Given the description of an element on the screen output the (x, y) to click on. 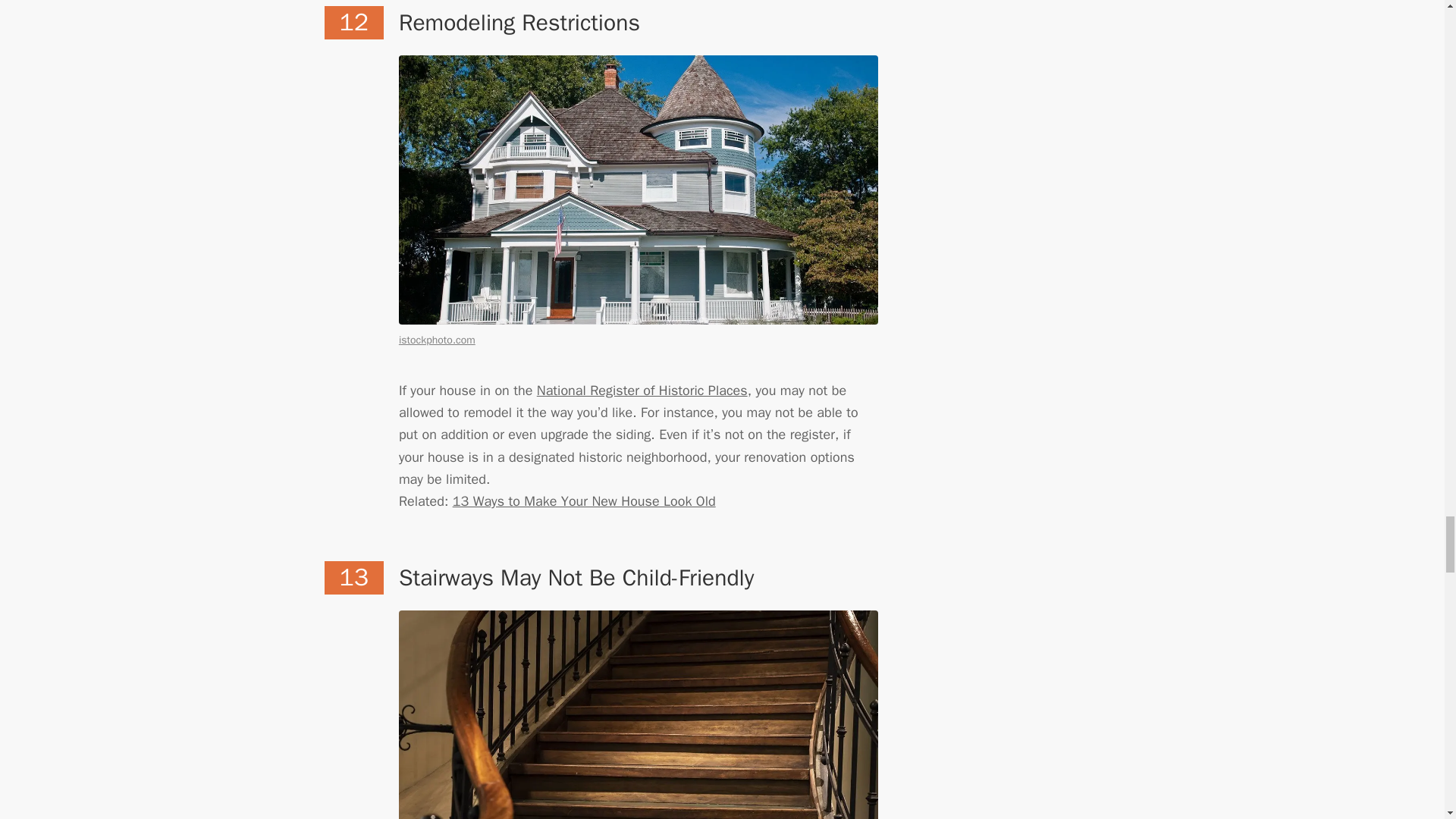
18 Ways to Make Your New House Look Old (584, 501)
istockphoto.com (437, 339)
